Given the description of an element on the screen output the (x, y) to click on. 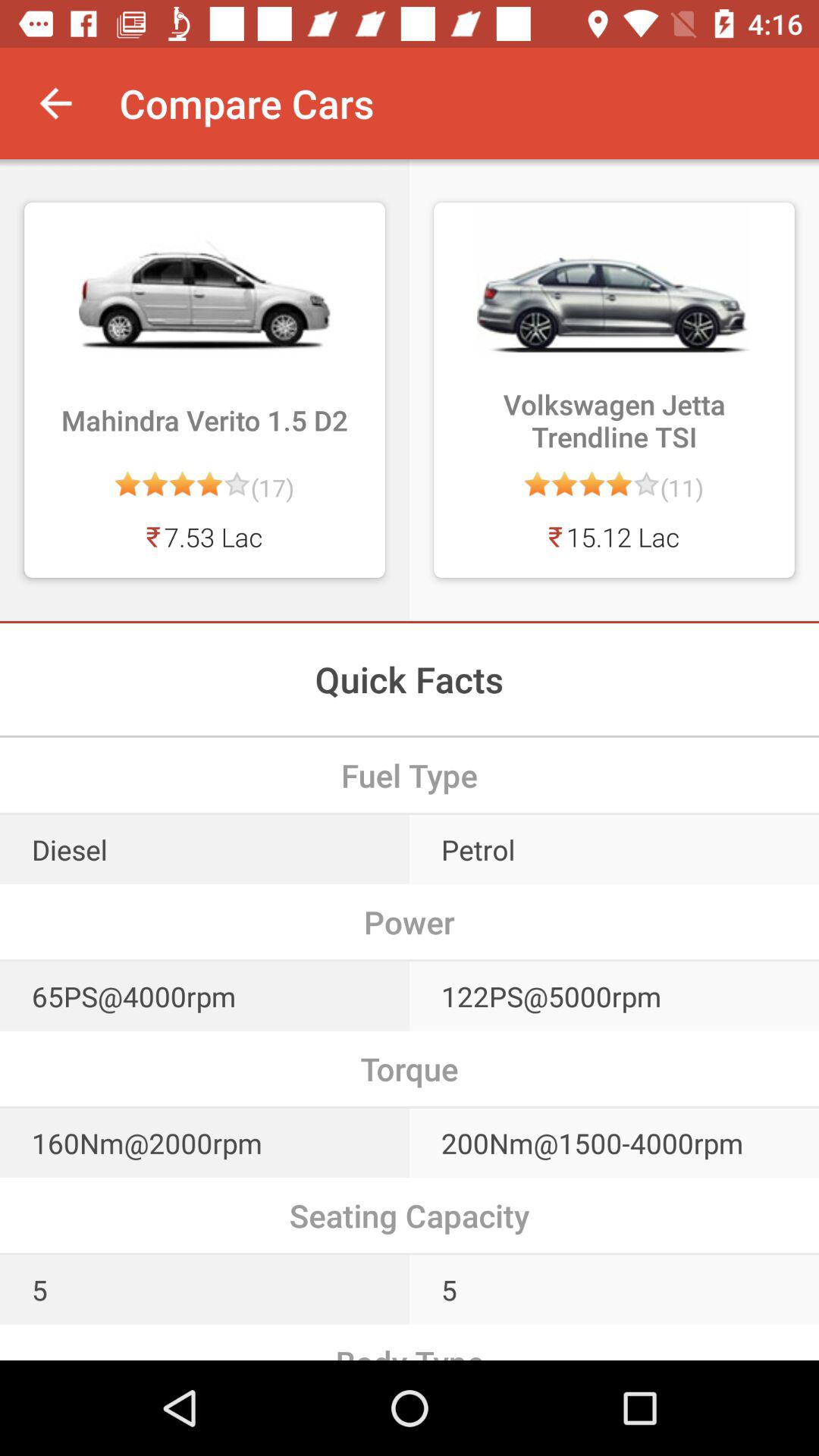
select icon next to compare cars app (55, 103)
